Given the description of an element on the screen output the (x, y) to click on. 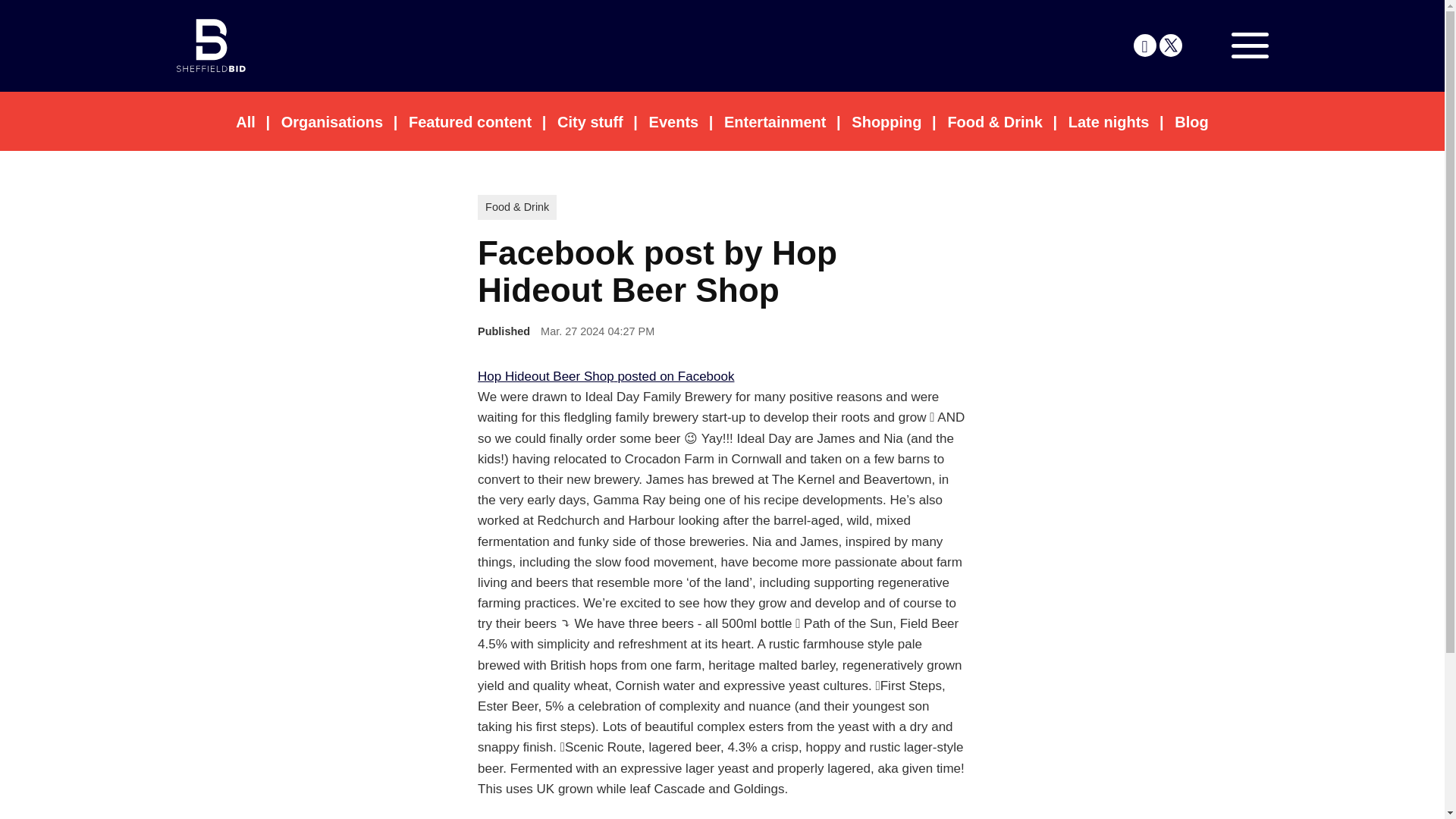
Shopping (886, 121)
Featured content (470, 121)
Late nights (1109, 121)
Hop Hideout Beer Shop (545, 376)
City stuff (590, 121)
All (245, 121)
Blog (1191, 121)
Entertainment (774, 121)
posted on Facebook (675, 376)
Hop Hideout Beer Shop (547, 376)
